Given the description of an element on the screen output the (x, y) to click on. 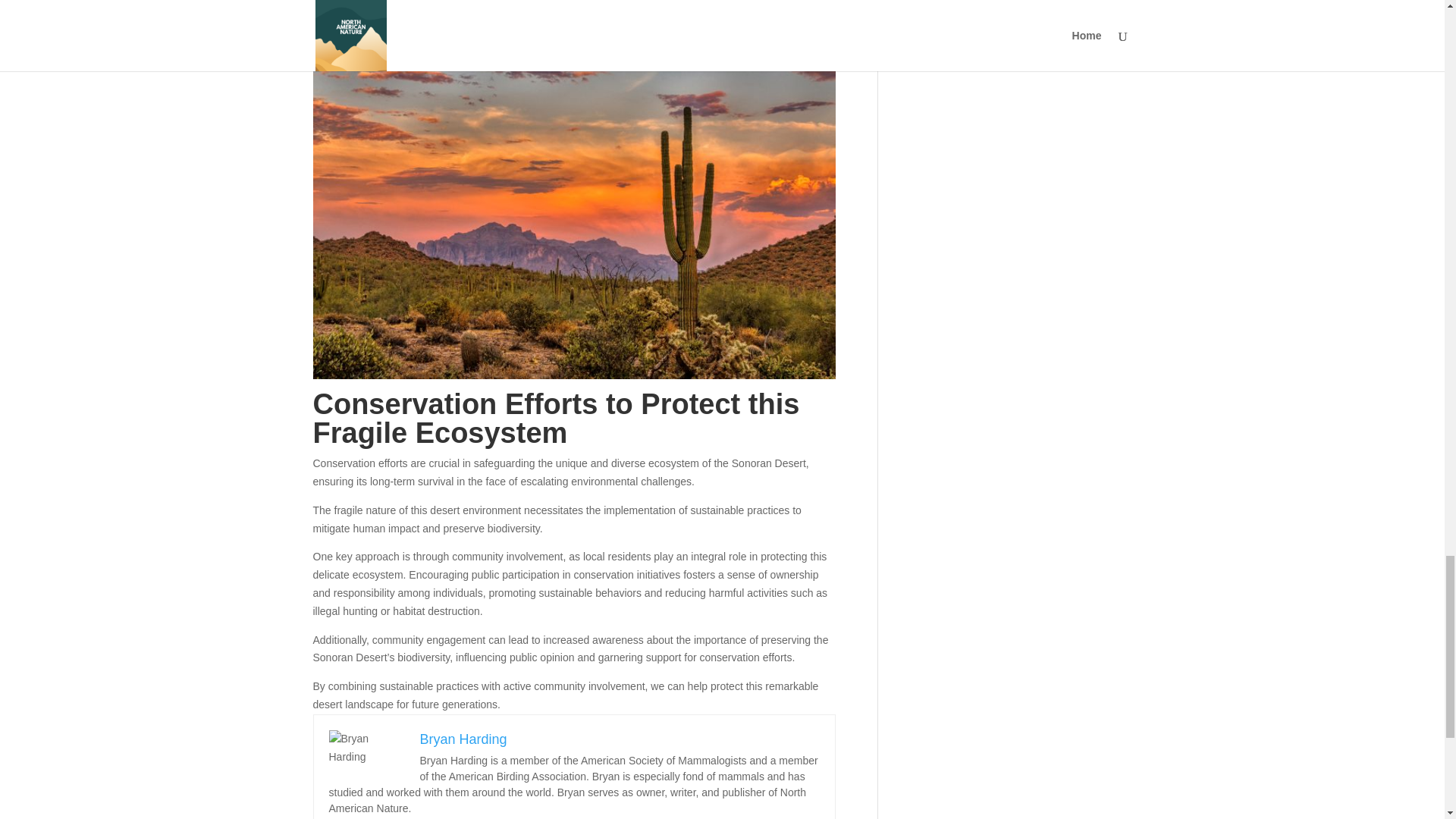
Bryan Harding (463, 739)
